Given the description of an element on the screen output the (x, y) to click on. 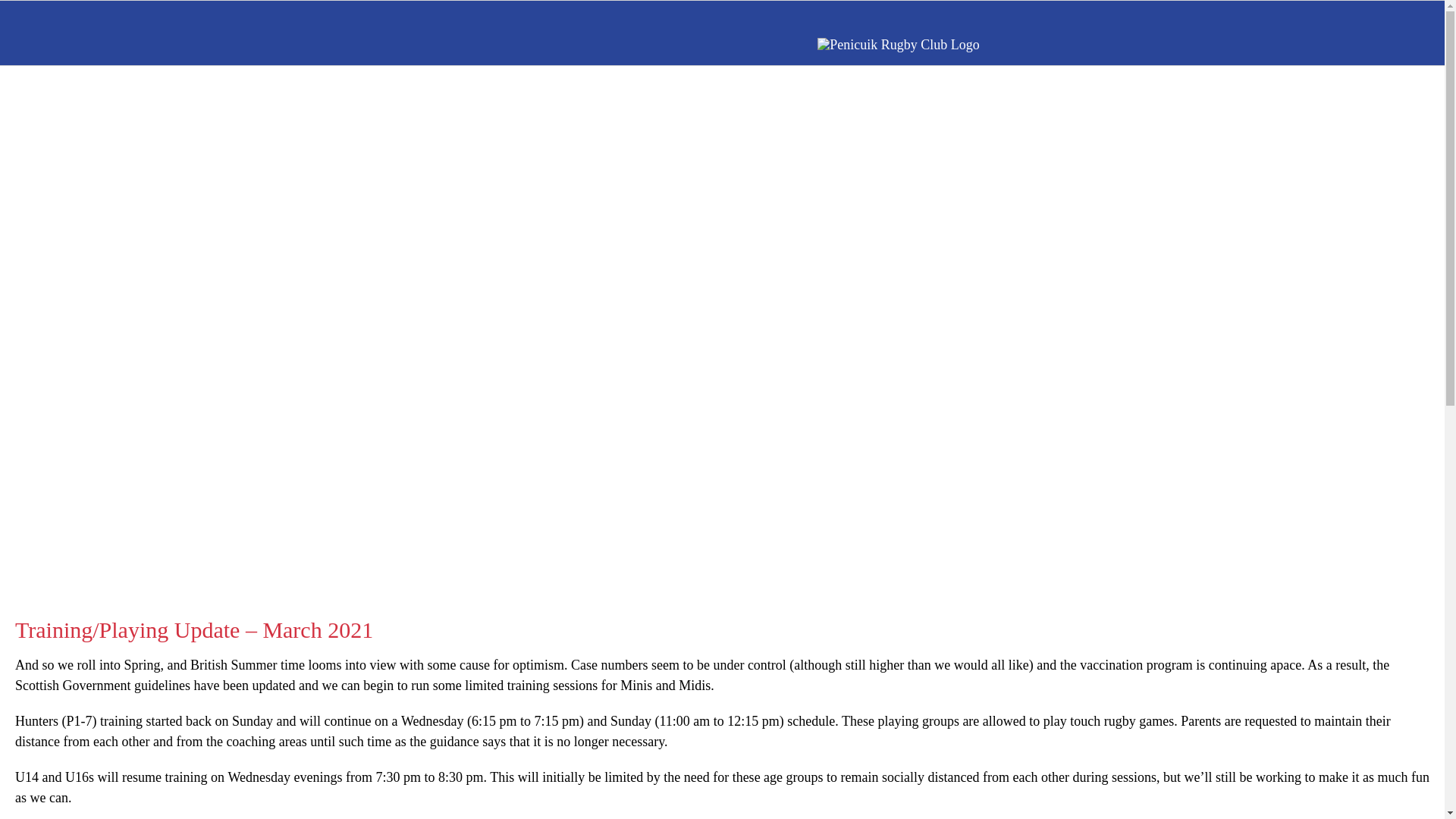
FIXTURES (574, 136)
MEMBERS (806, 304)
HISTORY (401, 136)
CLUB STORE (613, 304)
GALLERY (1026, 136)
